Given the description of an element on the screen output the (x, y) to click on. 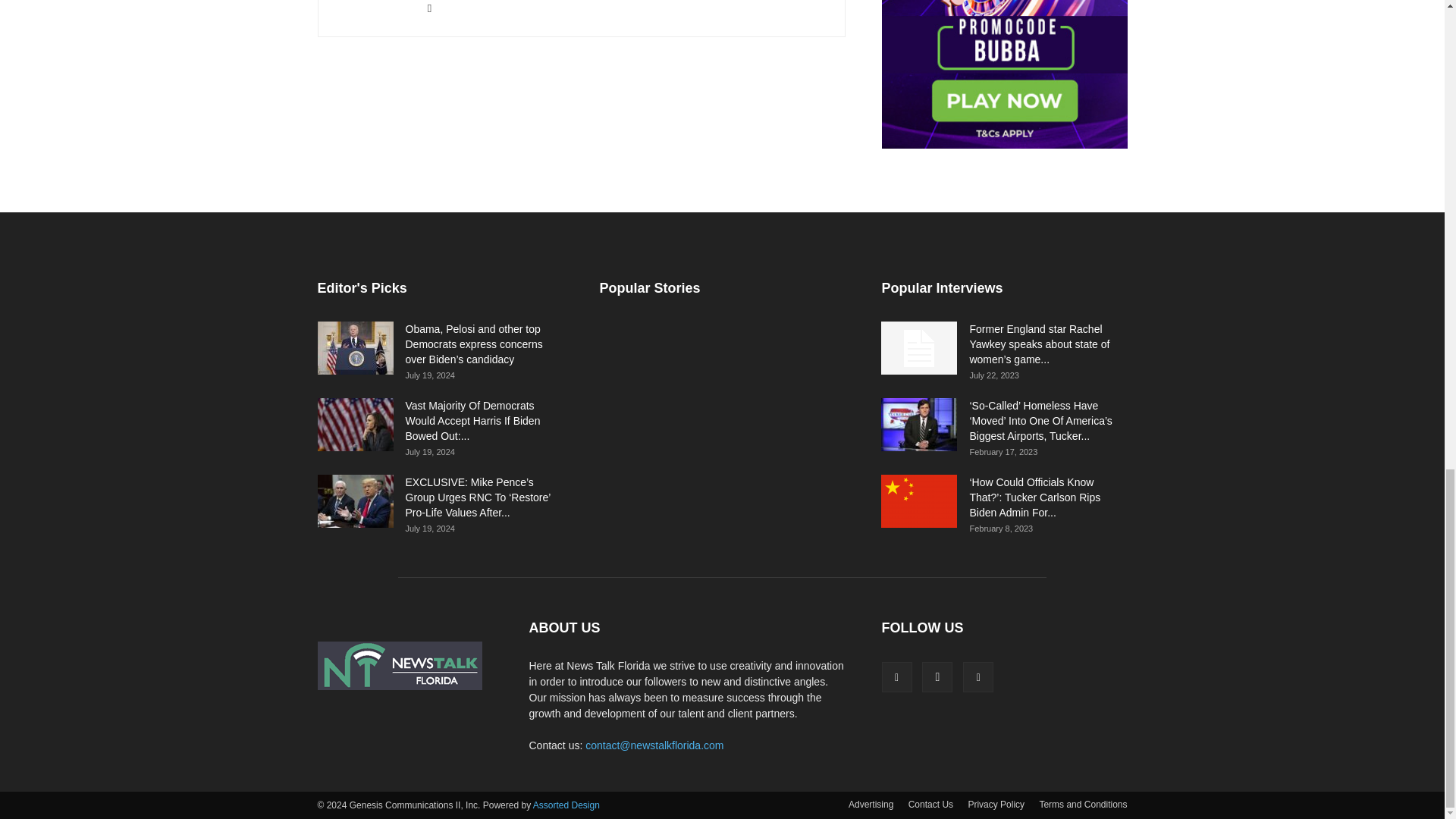
Twitter (435, 8)
